Given the description of an element on the screen output the (x, y) to click on. 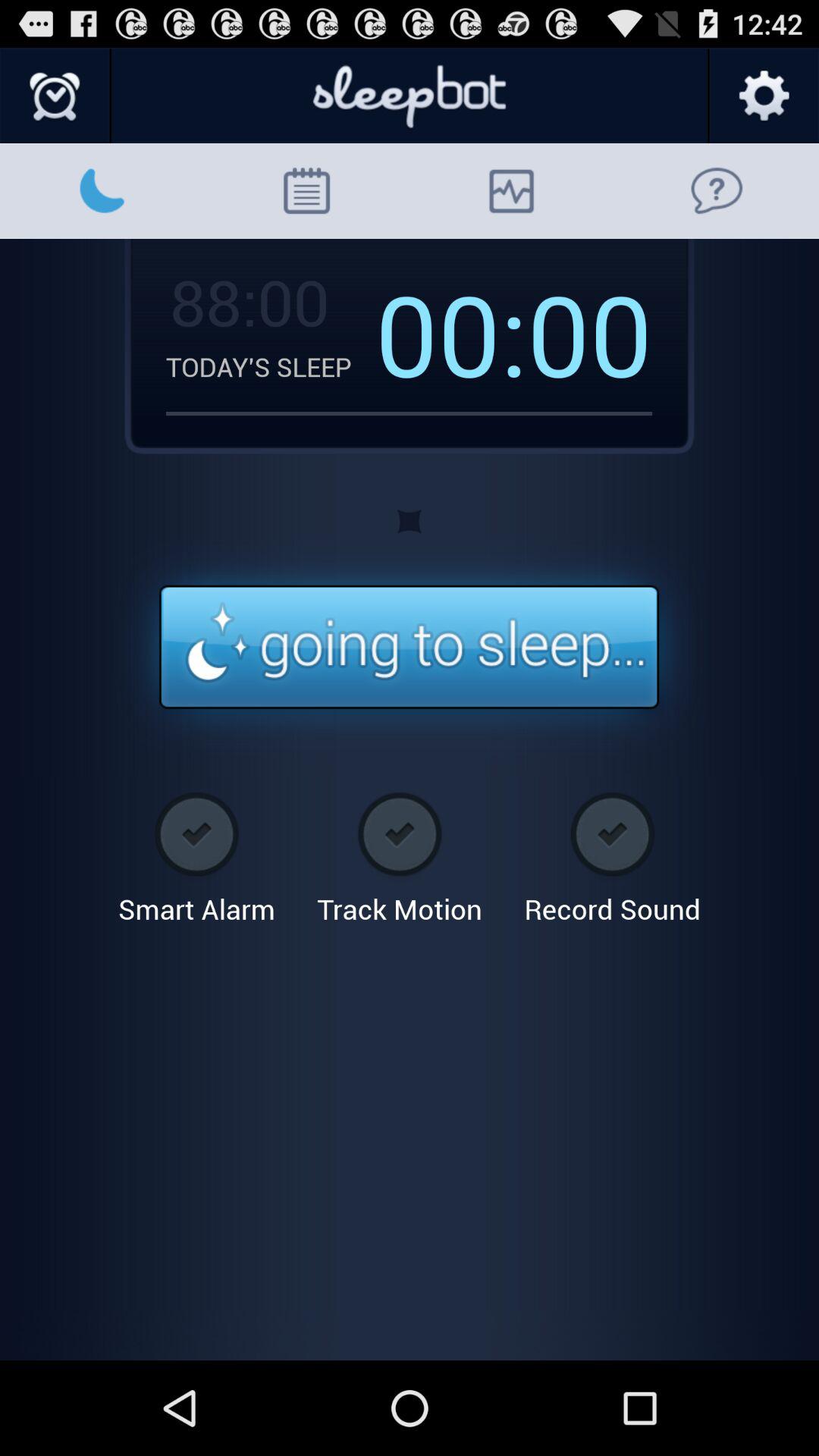
click icon to the left of the 00: app (247, 301)
